Given the description of an element on the screen output the (x, y) to click on. 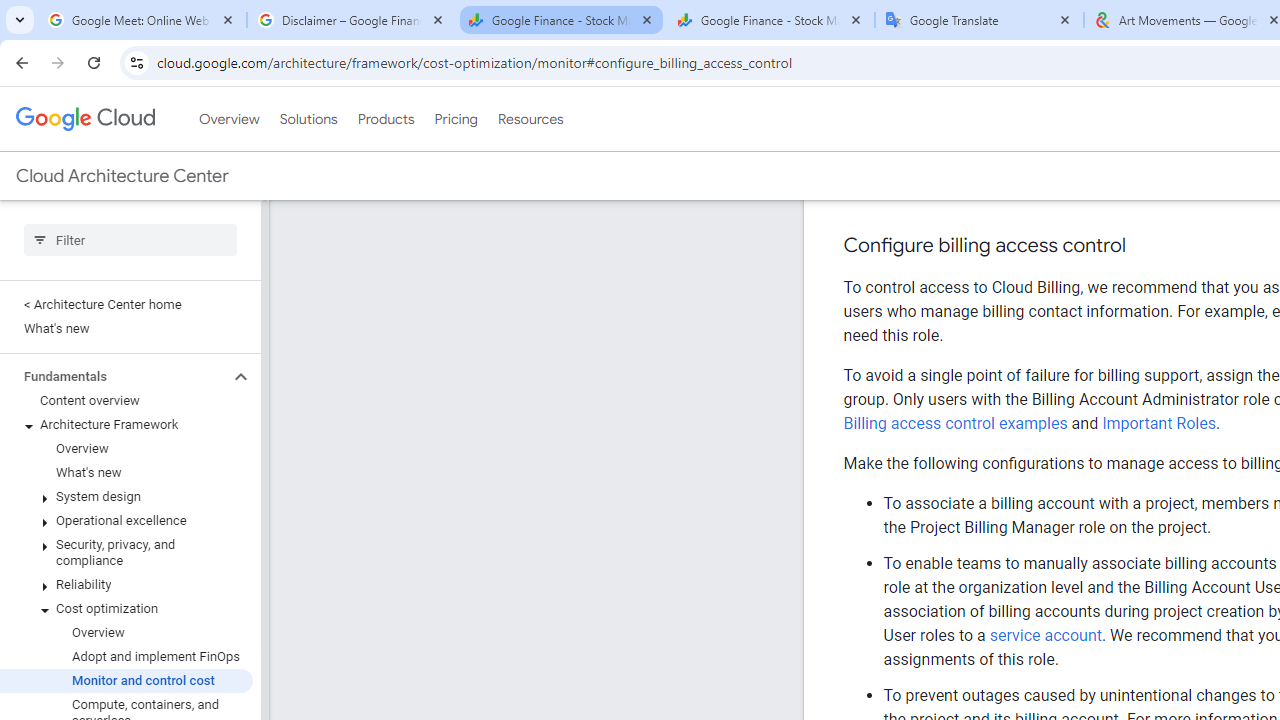
Google Translate (979, 20)
Cost optimization (126, 521)
Google Cloud (84, 31)
System design (126, 409)
service account (1045, 635)
Type to filter (130, 152)
< Architecture Center home (126, 217)
Products (385, 32)
Resources (530, 32)
Important Roles (1159, 336)
